Given the description of an element on the screen output the (x, y) to click on. 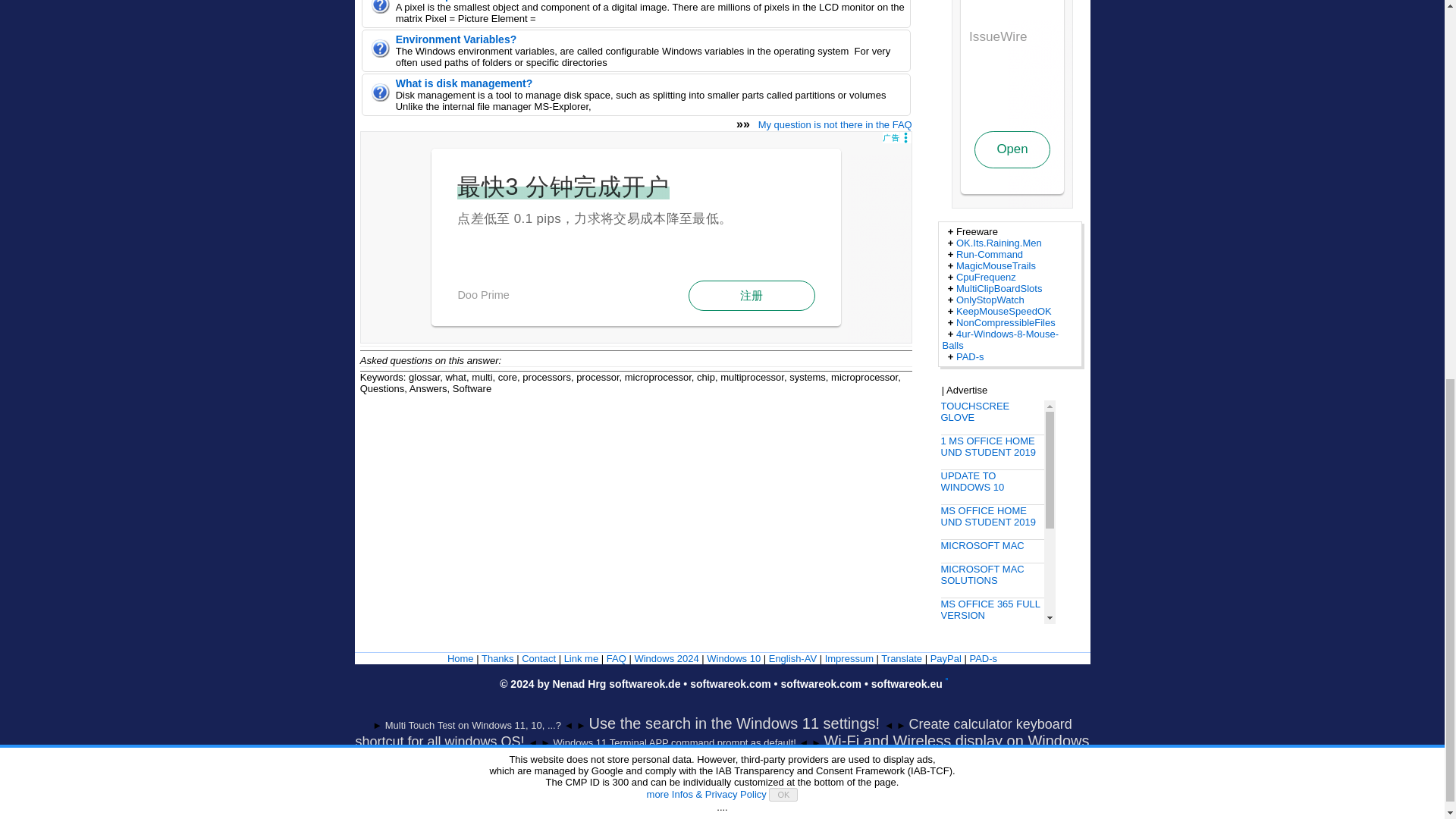
 OK  (782, 80)
My question is not there in the FAQ (835, 124)
Environment Variables? (456, 39)
What is a pixel? (436, 0)
Tips for Windows 10 (733, 658)
Tips for Windows 11 (665, 658)
What is disk management? (464, 82)
Asked questions on this answer: (429, 360)
Advertisement (635, 237)
